Given the description of an element on the screen output the (x, y) to click on. 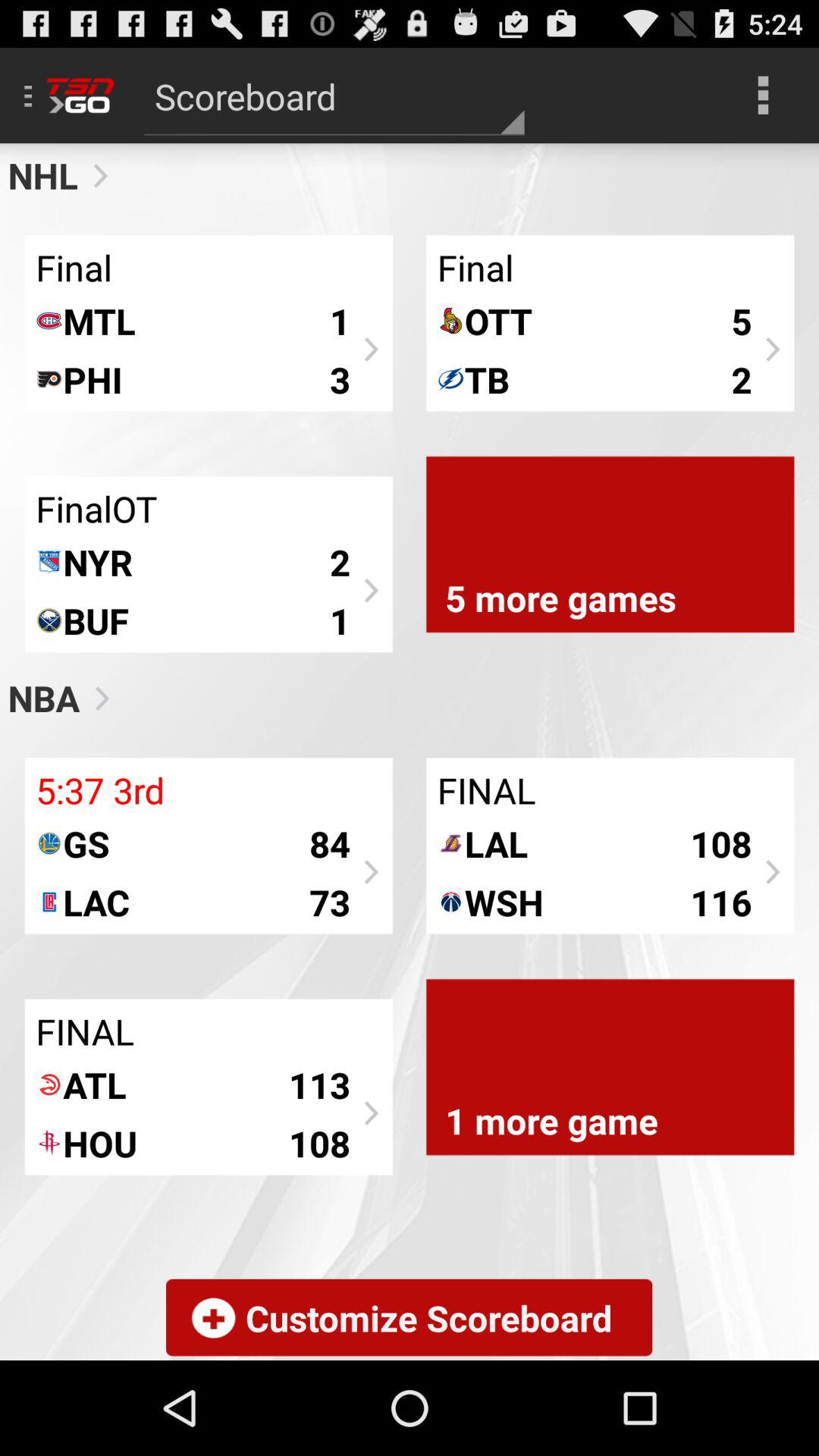
click  on scoreboard above nhl (334, 95)
click on forward arrow icon right to nhl (93, 175)
click on the arrow which is below 2 and above 1 (368, 590)
